Given the description of an element on the screen output the (x, y) to click on. 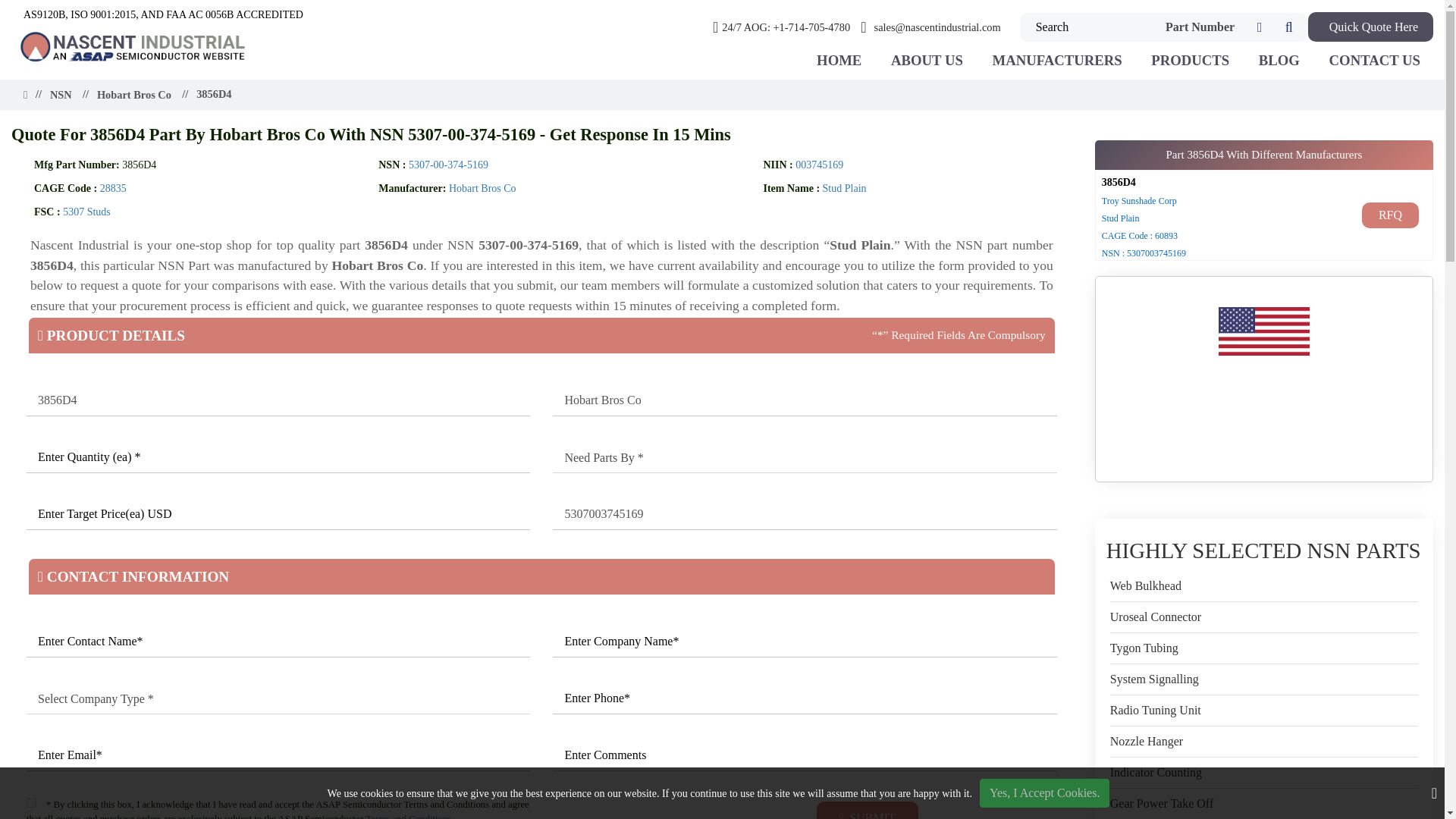
MANUFACTURERS (1056, 60)
on (31, 802)
Terms and Conditions. (408, 816)
5307 Studs (86, 211)
PRODUCTS (1189, 60)
BLOG (1279, 60)
003745169 (818, 164)
Hobart Bros Co (482, 188)
5307003745169 (805, 514)
5307-00-374-5169 (448, 164)
  Quick Quote Here (1369, 26)
Hobart Bros Co (805, 400)
Stud Plain (844, 188)
  SUBMIT (867, 810)
3856D4 (277, 400)
